Given the description of an element on the screen output the (x, y) to click on. 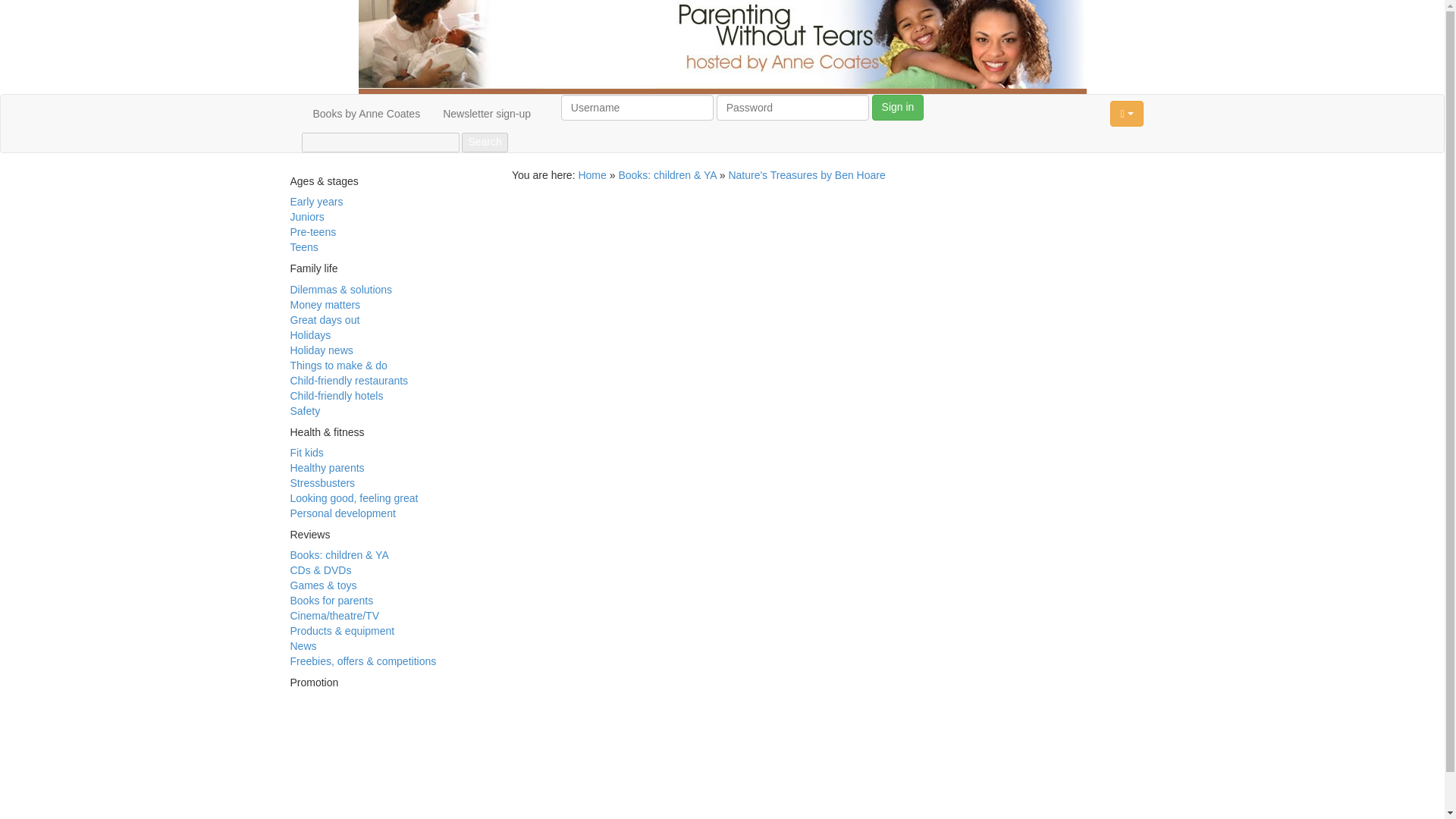
Teens (303, 246)
Books by Anne Coates (366, 113)
Personal development (341, 512)
Books for parents (330, 600)
Fit kids (306, 452)
Stressbusters (322, 482)
Money matters (324, 304)
Pre-teens (312, 232)
Newsletter sign-up (485, 113)
Search (483, 142)
